Given the description of an element on the screen output the (x, y) to click on. 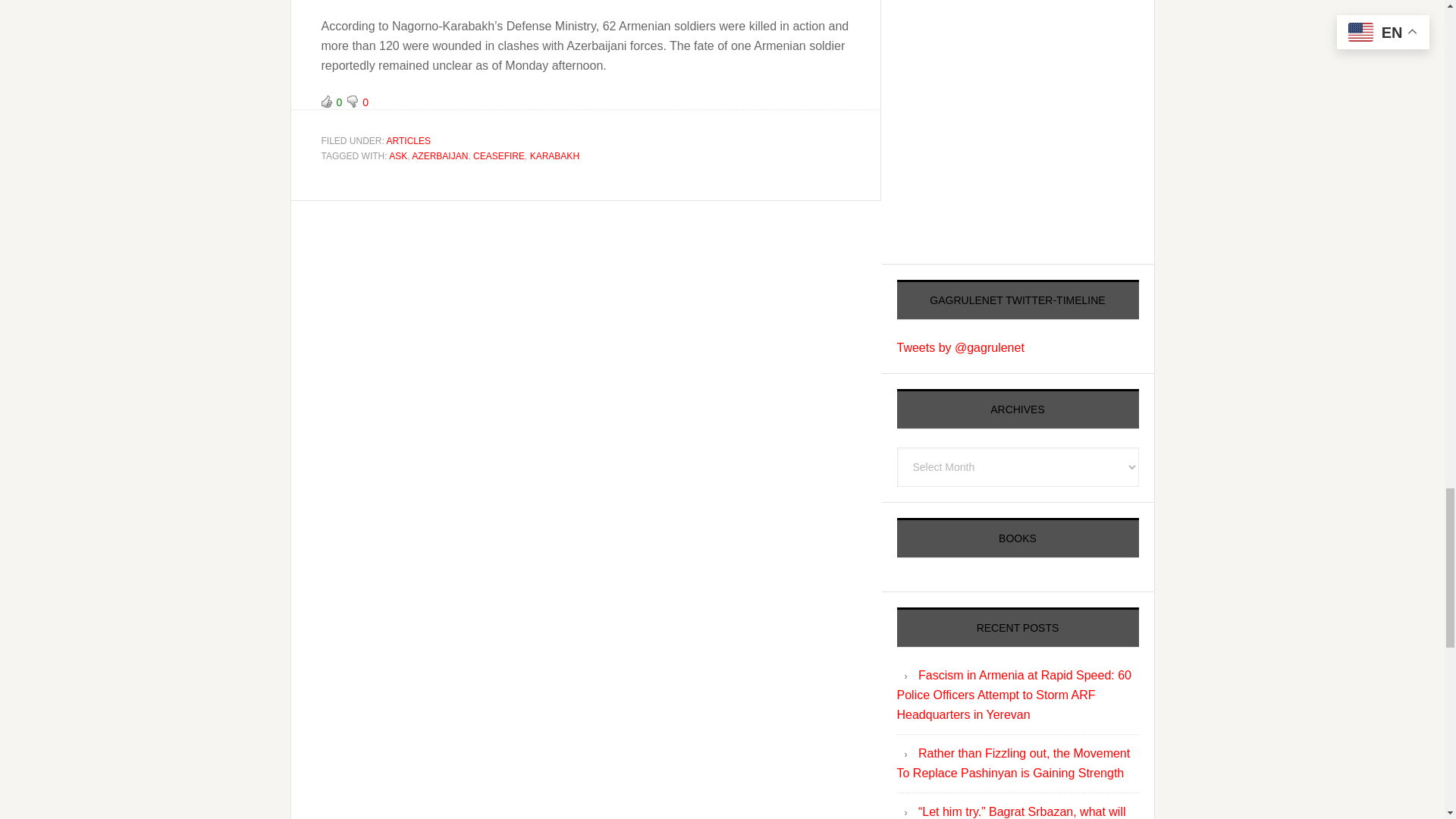
KARABAKH (554, 155)
AZERBAIJAN (439, 155)
ASK (397, 155)
ARTICLES (408, 140)
CEASEFIRE (498, 155)
